Given the description of an element on the screen output the (x, y) to click on. 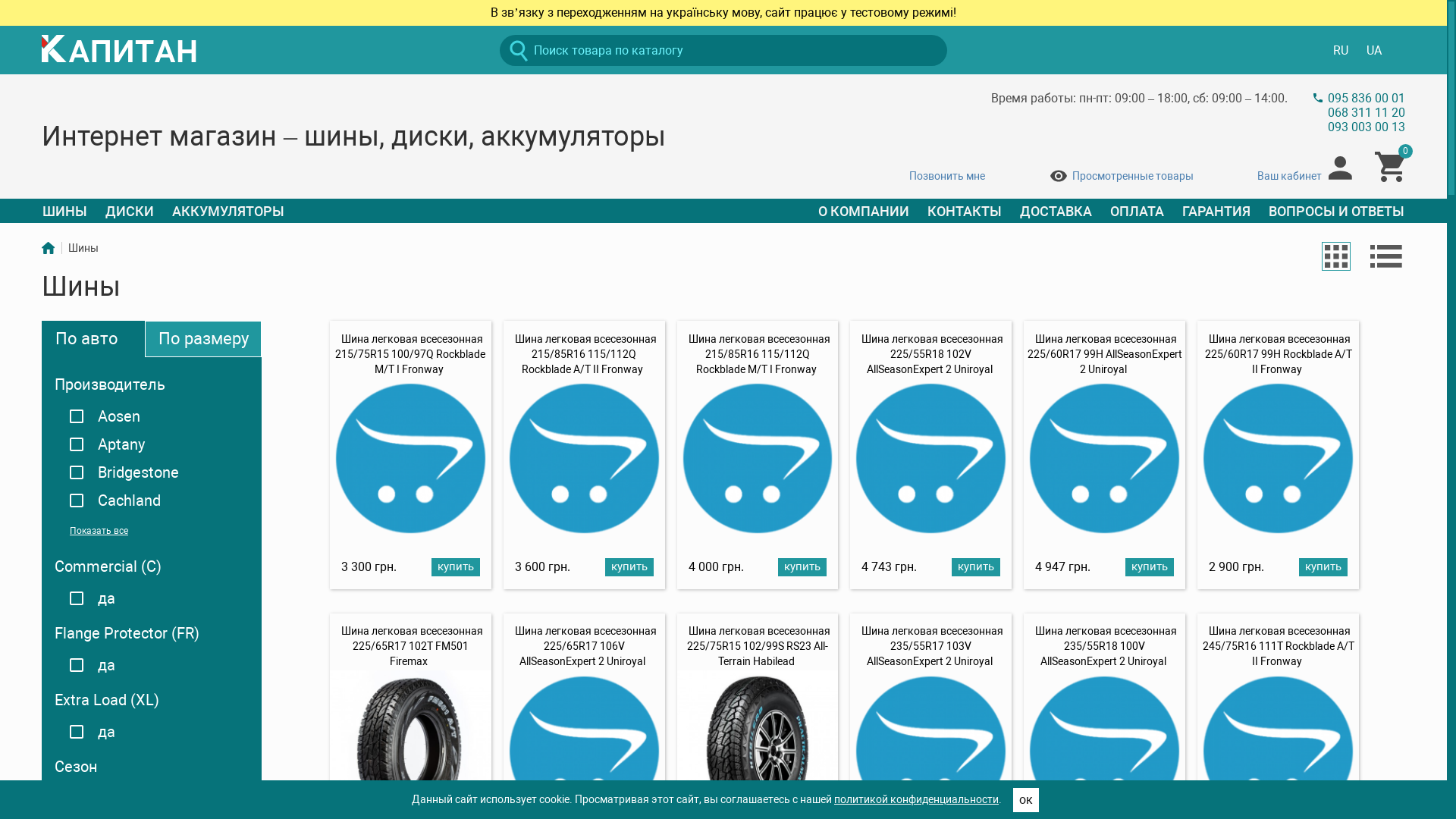
0 Element type: text (1389, 166)
UA Element type: text (1373, 49)
RU Element type: text (1340, 49)
095 836 00 01 Element type: text (1366, 98)
068 311 11 20 Element type: text (1366, 112)
093 003 00 13 Element type: text (1366, 126)
